Given the description of an element on the screen output the (x, y) to click on. 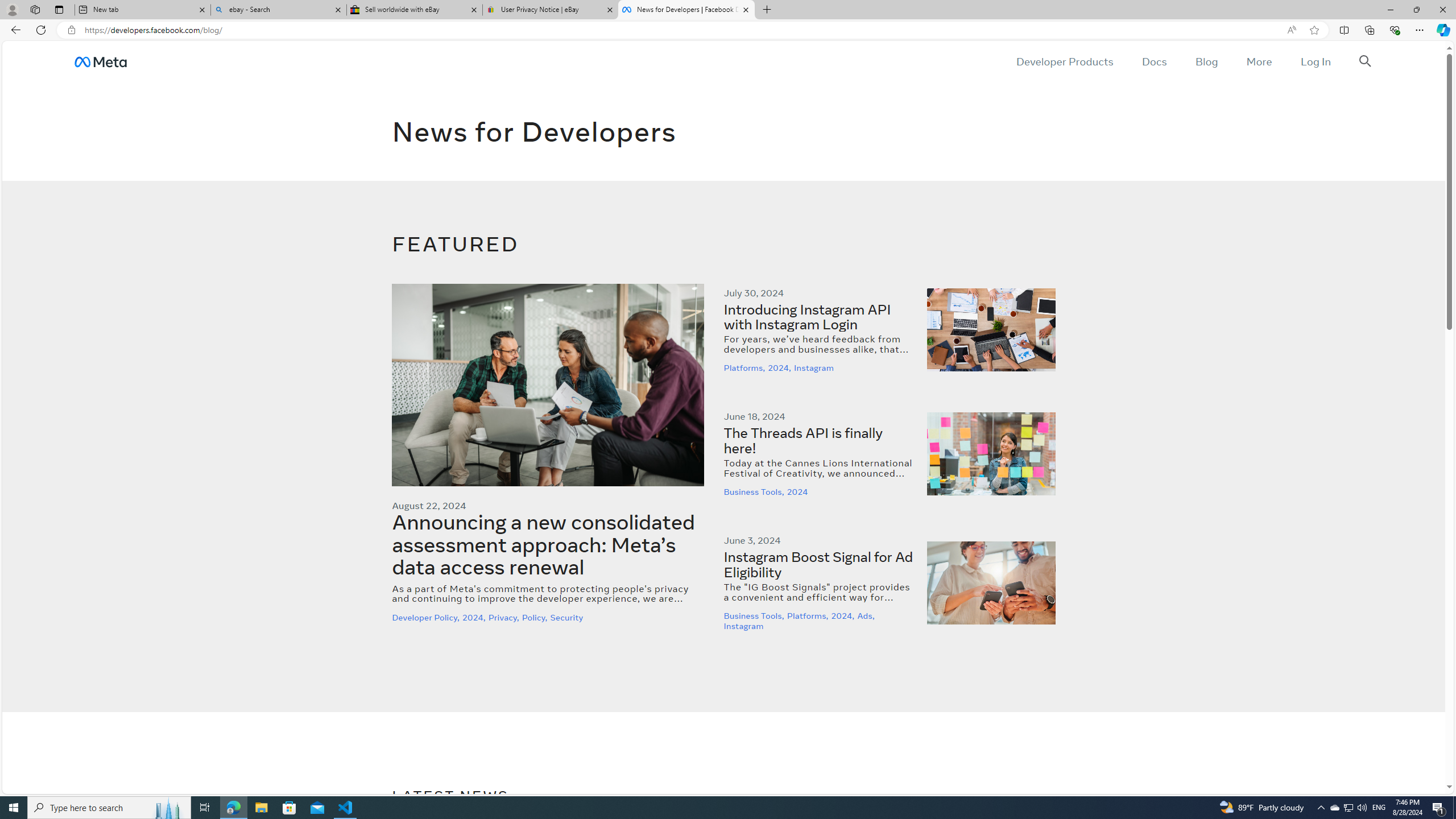
Platforms, (808, 615)
Blog (1205, 61)
Developer Products (1064, 61)
Ads, (867, 615)
Policy, (535, 616)
2024, (844, 615)
2024 (798, 491)
Blog (1205, 61)
More (1259, 61)
